Given the description of an element on the screen output the (x, y) to click on. 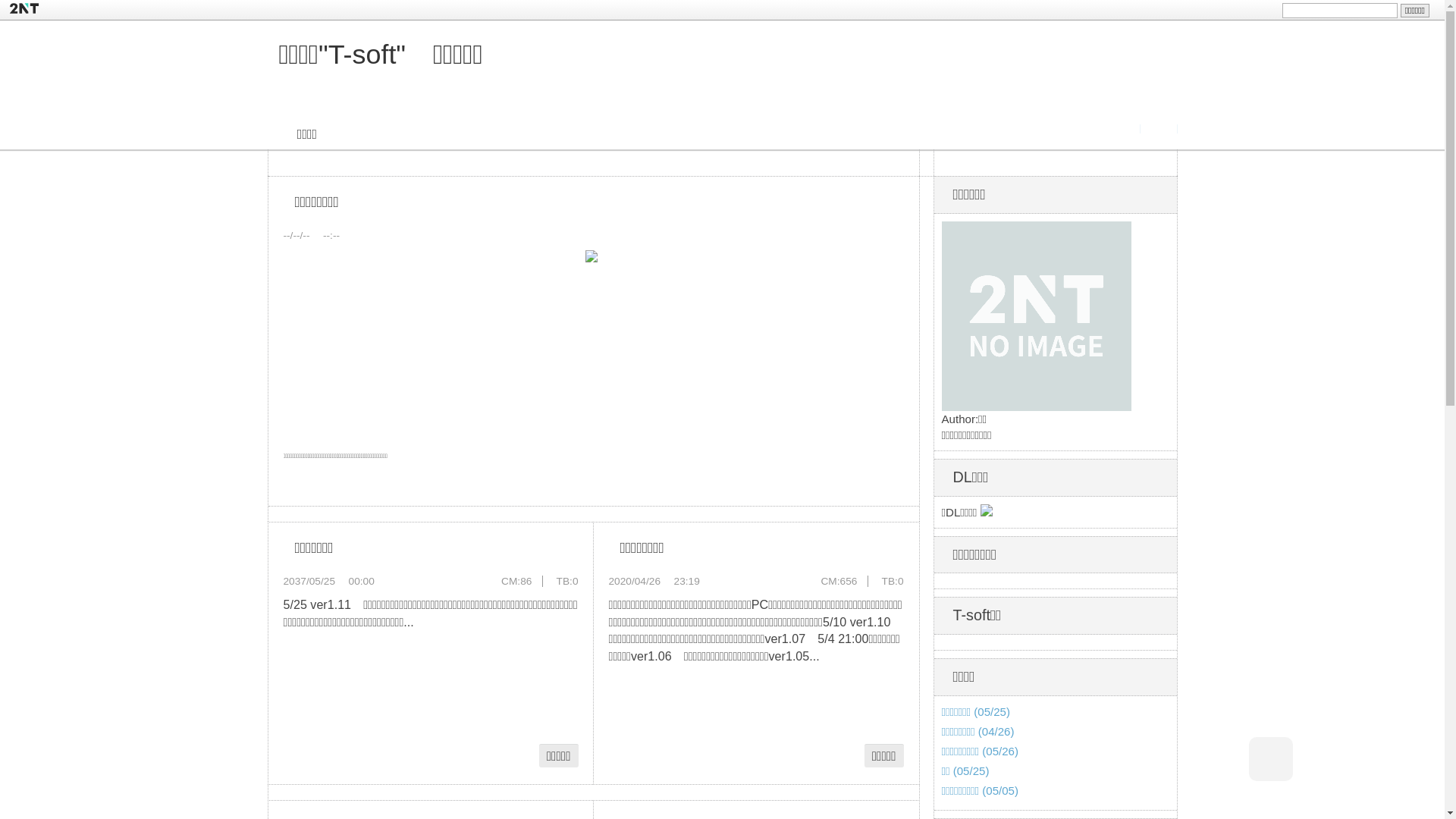
TB:0 Element type: text (567, 580)
CM:86 Element type: text (516, 580)
CM:656 Element type: text (838, 580)
TB:0 Element type: text (892, 580)
